Given the description of an element on the screen output the (x, y) to click on. 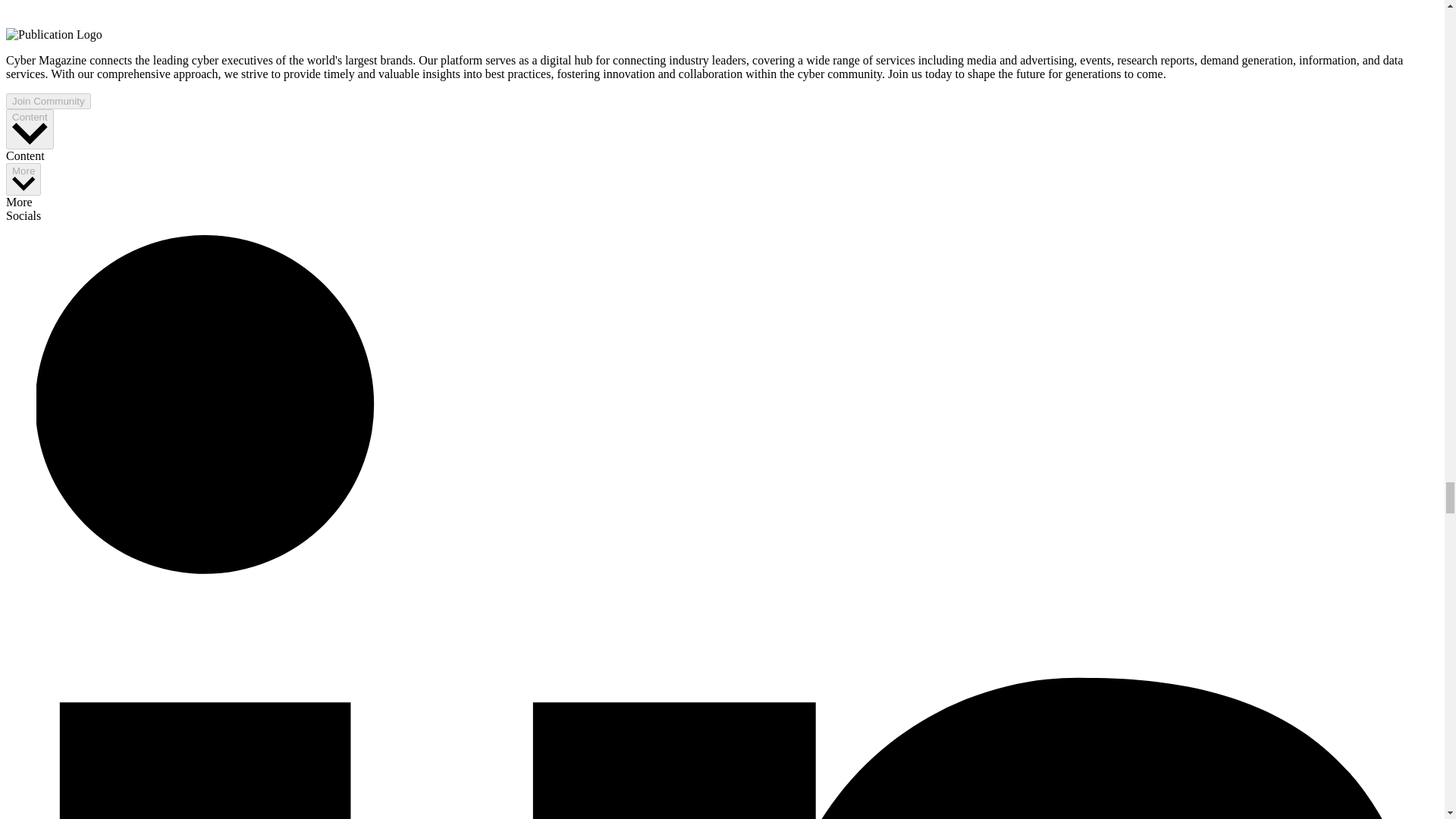
More (22, 178)
Join Community (47, 100)
Content (29, 128)
